Given the description of an element on the screen output the (x, y) to click on. 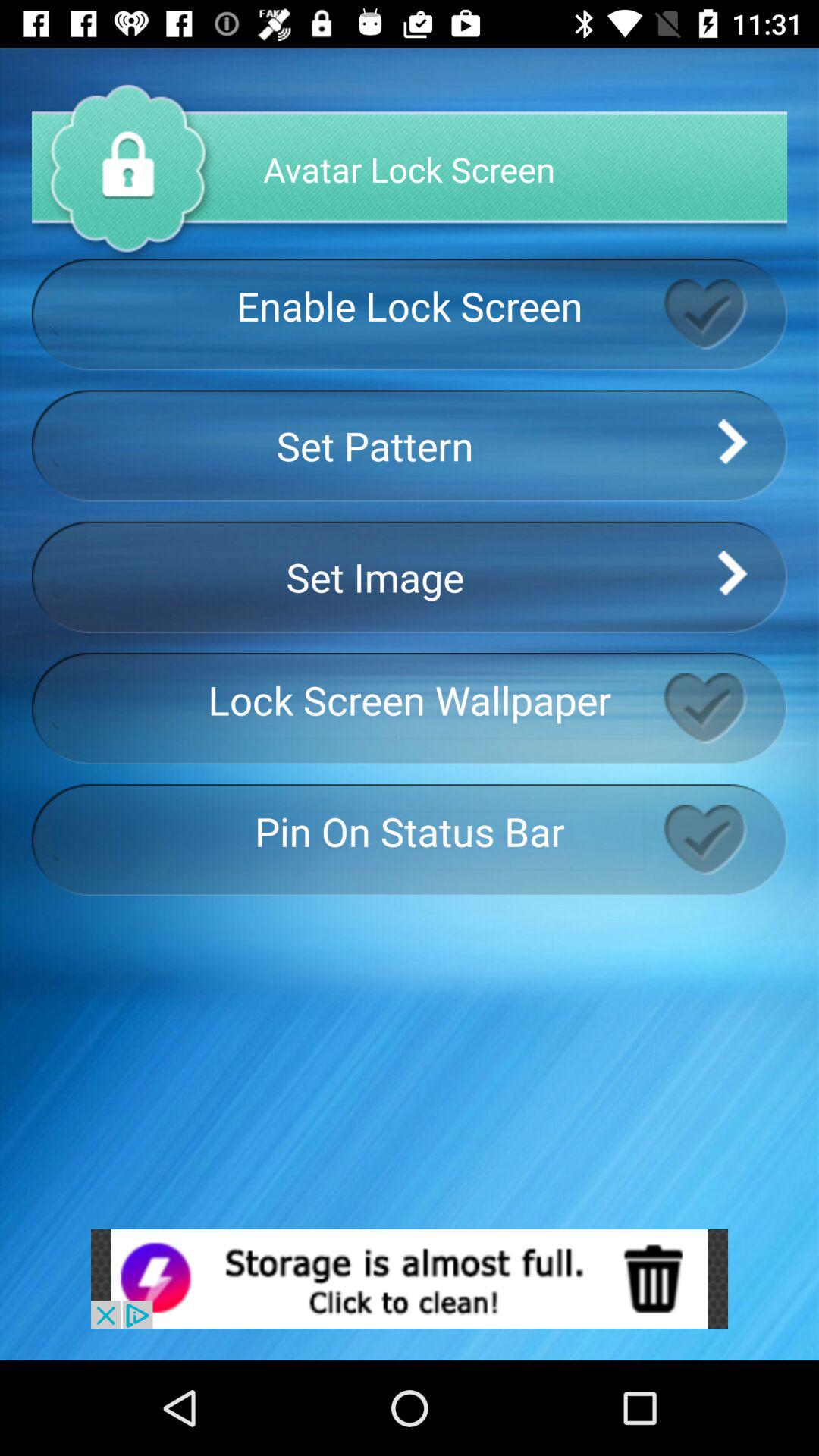
enable feature (725, 839)
